Given the description of an element on the screen output the (x, y) to click on. 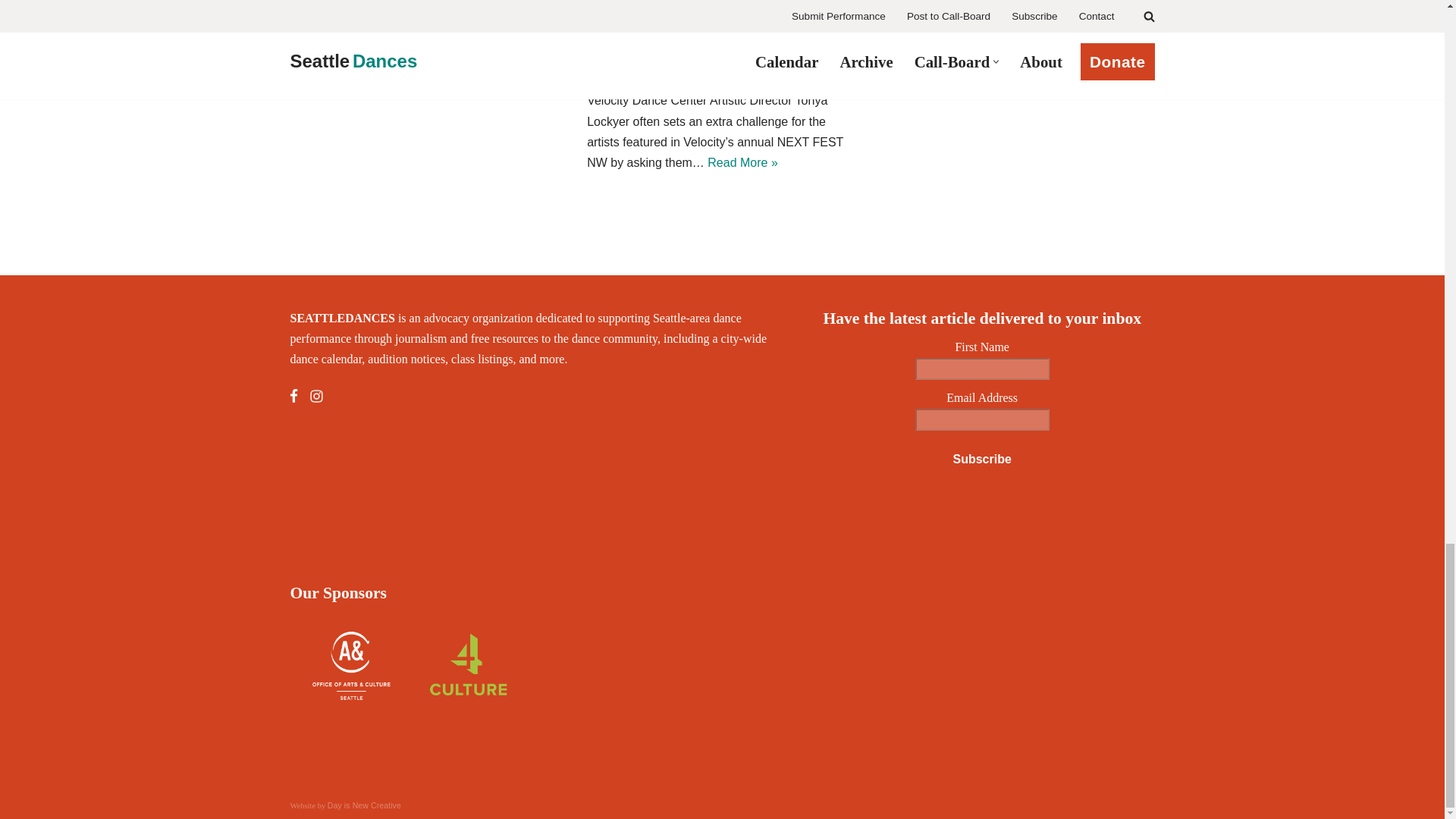
Subscribe (981, 459)
